Given the description of an element on the screen output the (x, y) to click on. 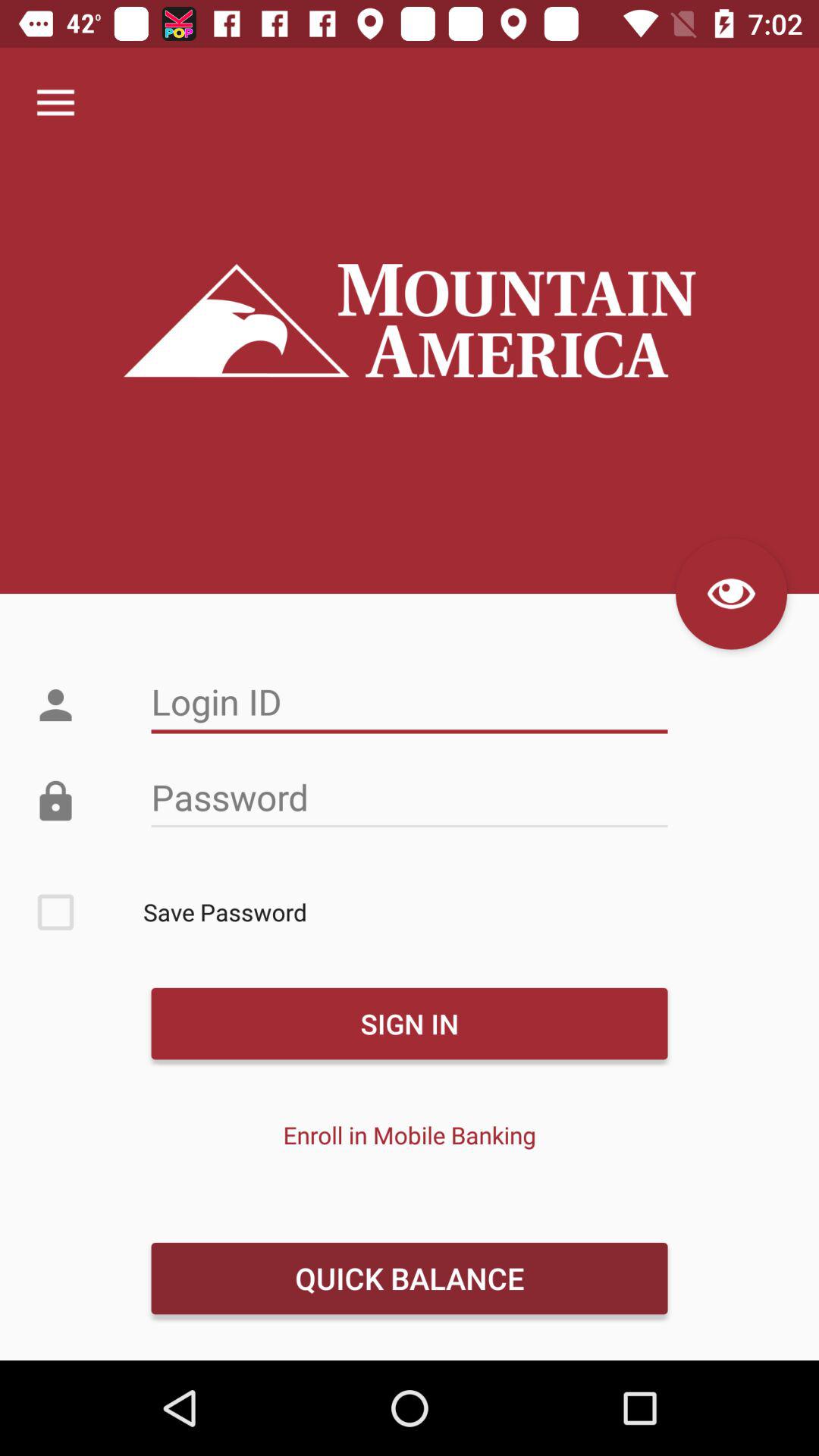
open the item above enroll in mobile icon (409, 1023)
